Given the description of an element on the screen output the (x, y) to click on. 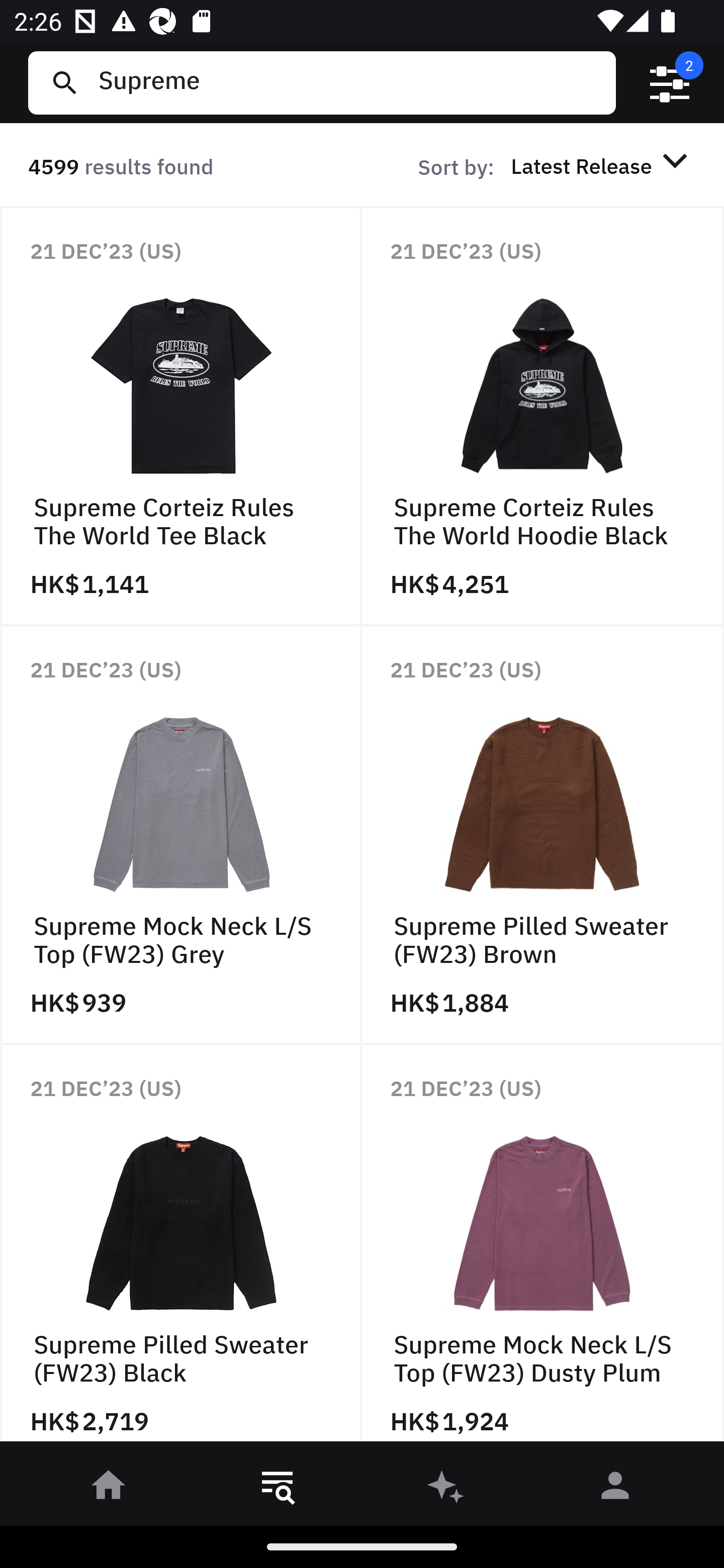
Supreme (349, 82)
 (669, 82)
Latest Release  (602, 165)
󰋜 (108, 1488)
󱎸 (277, 1488)
󰫢 (446, 1488)
󰀄 (615, 1488)
